Given the description of an element on the screen output the (x, y) to click on. 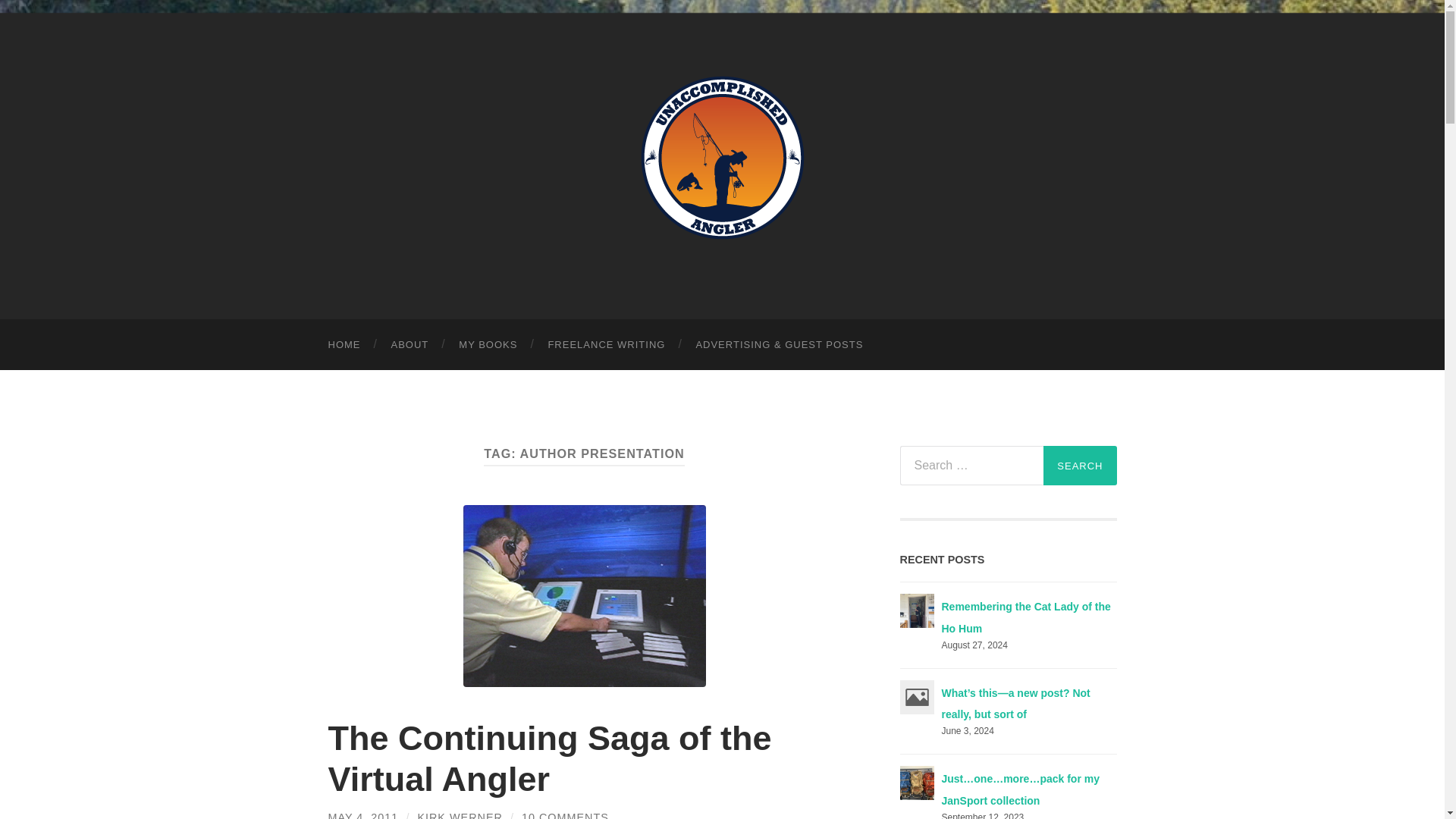
ABOUT (409, 344)
Search (1079, 465)
MY BOOKS (488, 344)
Posts by Kirk Werner (459, 815)
HOME (344, 344)
Search (1079, 465)
MAY 4, 2011 (362, 815)
Permalink to Remembering the Cat Lady of the Ho Hum (1026, 617)
Remembering the Cat Lady of the Ho Hum (1026, 617)
The Continuing Saga of the Virtual Angler (549, 758)
